Given the description of an element on the screen output the (x, y) to click on. 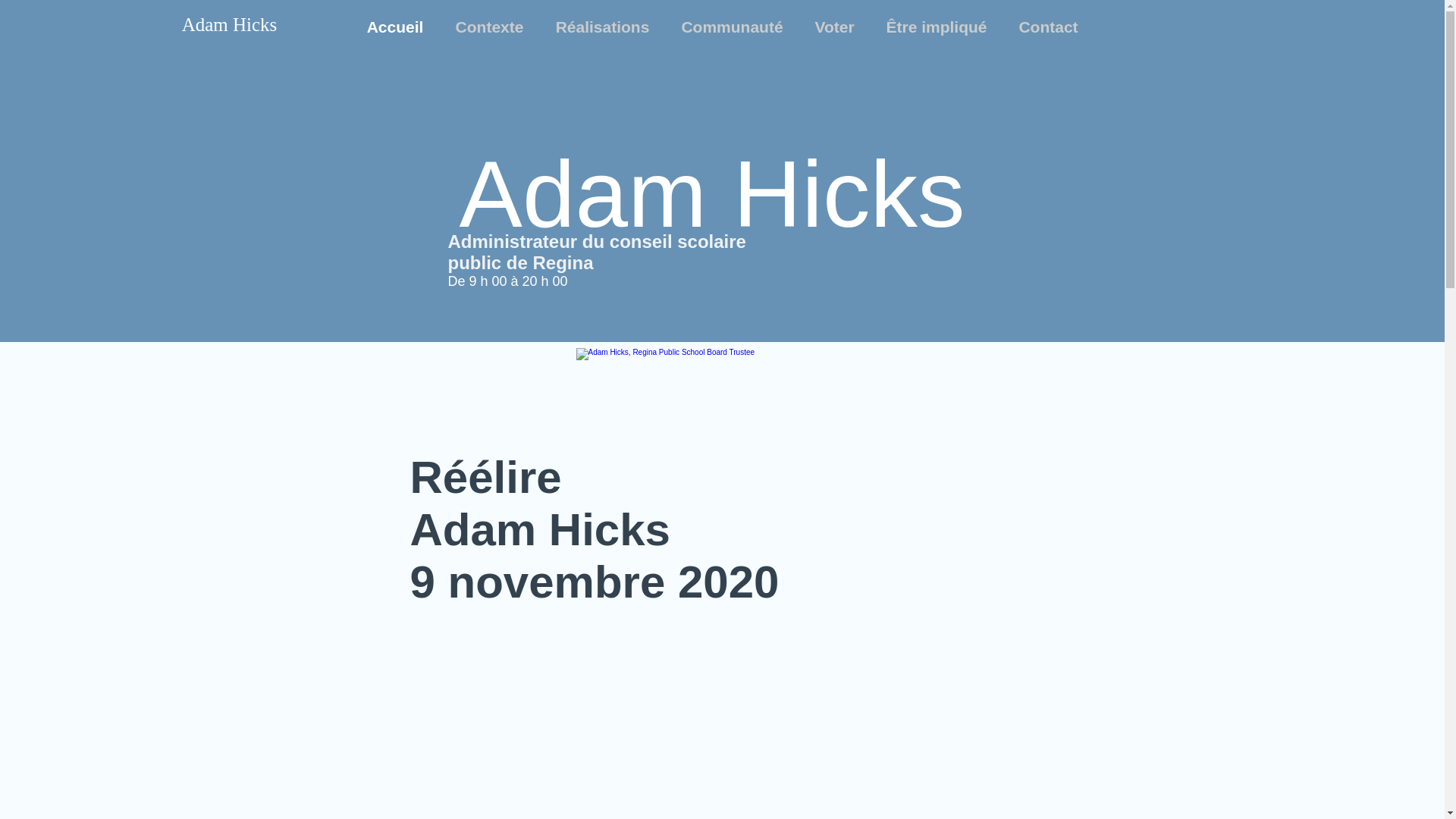
Accueil Element type: text (394, 26)
Contexte Element type: text (489, 26)
Voter Element type: text (834, 26)
Contact Element type: text (1047, 26)
